Given the description of an element on the screen output the (x, y) to click on. 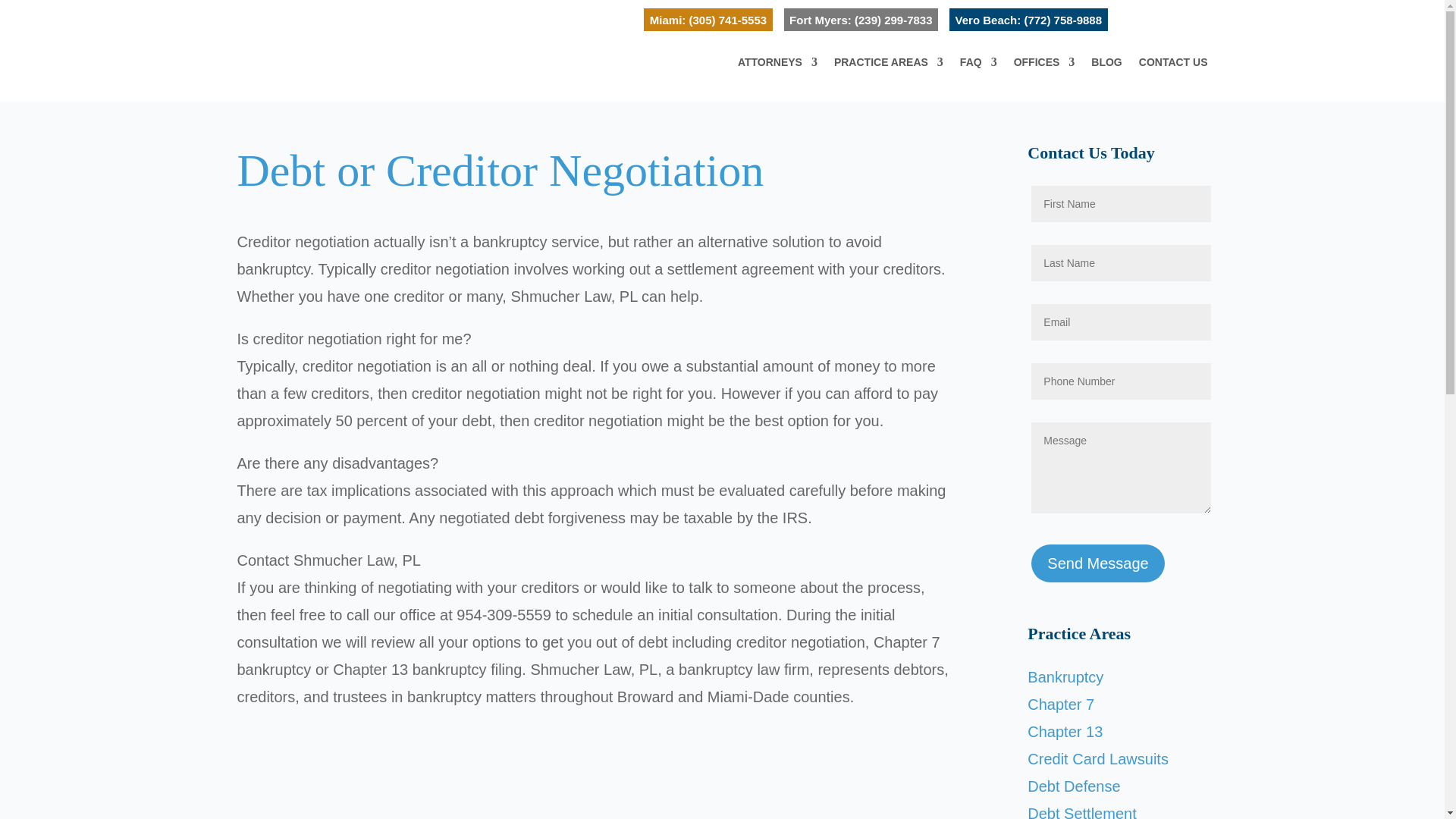
Send Message (1096, 563)
PRACTICE AREAS (888, 78)
ATTORNEYS (777, 78)
